Given the description of an element on the screen output the (x, y) to click on. 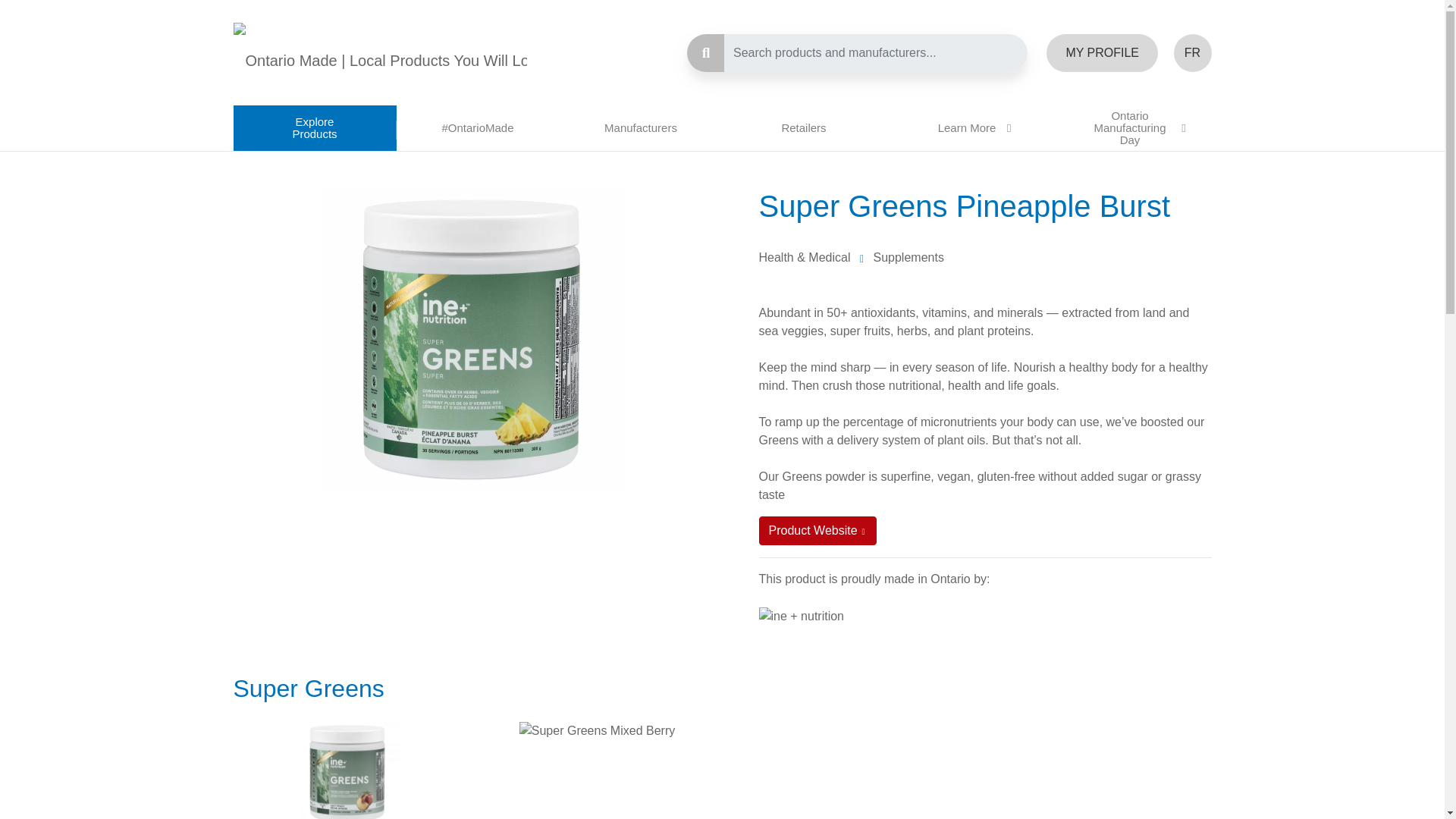
Ontario Manufacturing Day (1129, 127)
Explore Products (314, 127)
FR (1192, 53)
Retailers (803, 127)
Supplements (907, 256)
Product Website (817, 530)
Learn More (966, 127)
MY PROFILE (1101, 53)
Manufacturers (640, 127)
